Given the description of an element on the screen output the (x, y) to click on. 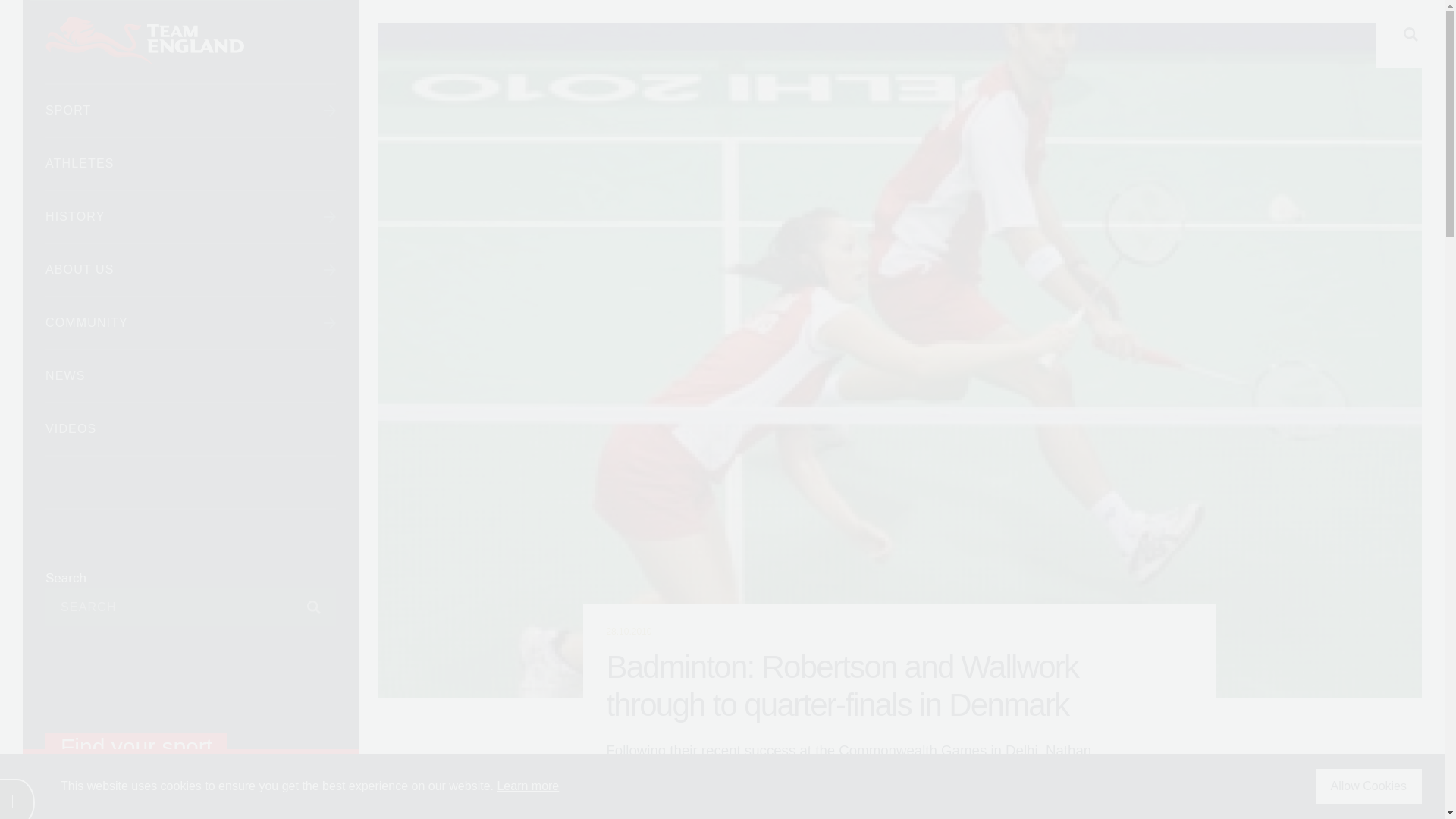
Subscribe (301, 607)
SPORT (190, 110)
Subscribe (301, 607)
Commonwealth Games England (190, 41)
